Given the description of an element on the screen output the (x, y) to click on. 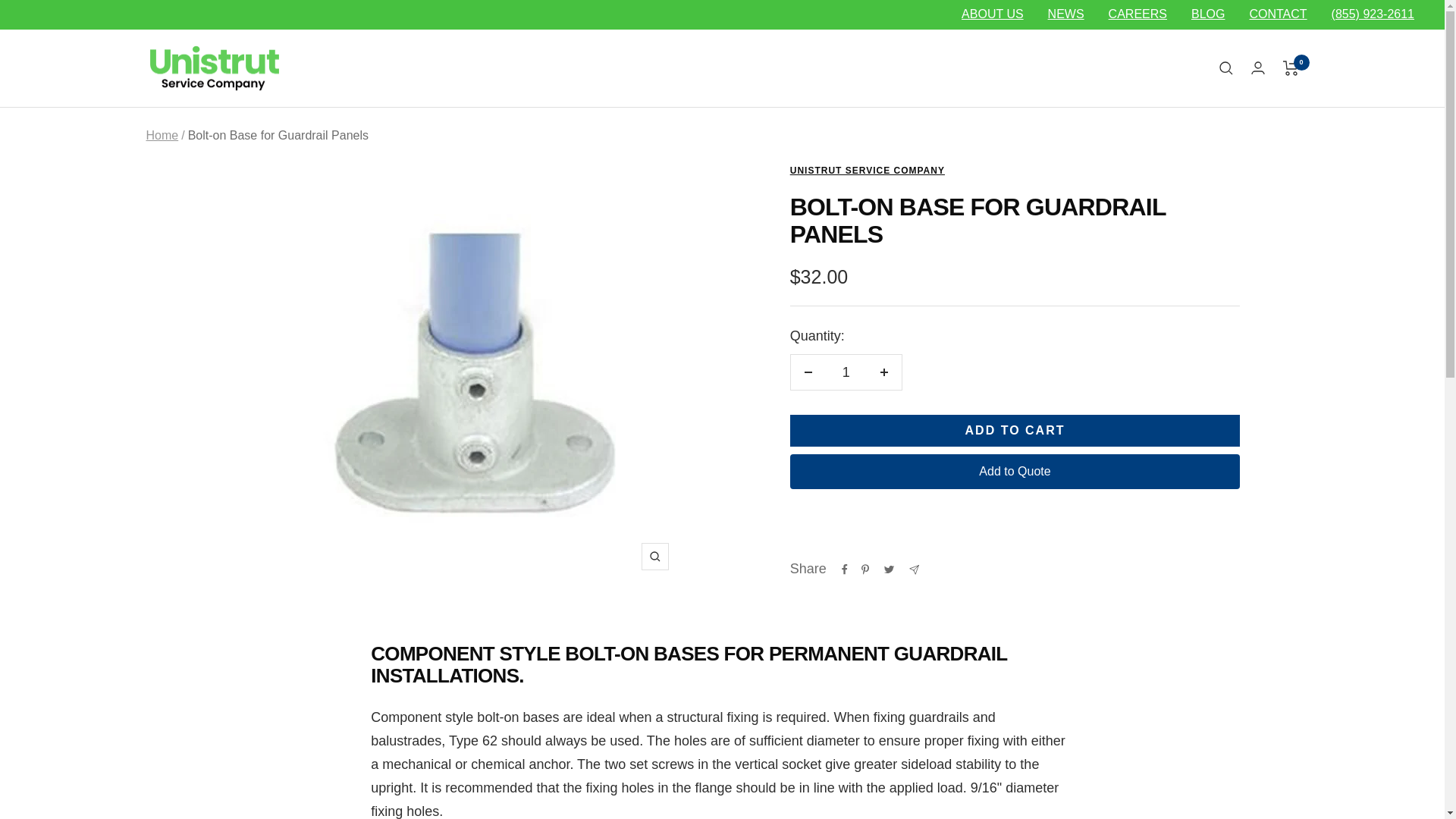
Add to Quote (1015, 471)
Home (161, 134)
CAREERS (1137, 14)
ADD TO CART (1015, 430)
ABOUT US (991, 14)
1 (845, 371)
UNISTRUT SERVICE COMPANY (867, 170)
NEWS (1066, 14)
Increase quantity (883, 371)
0 (1290, 68)
